Given the description of an element on the screen output the (x, y) to click on. 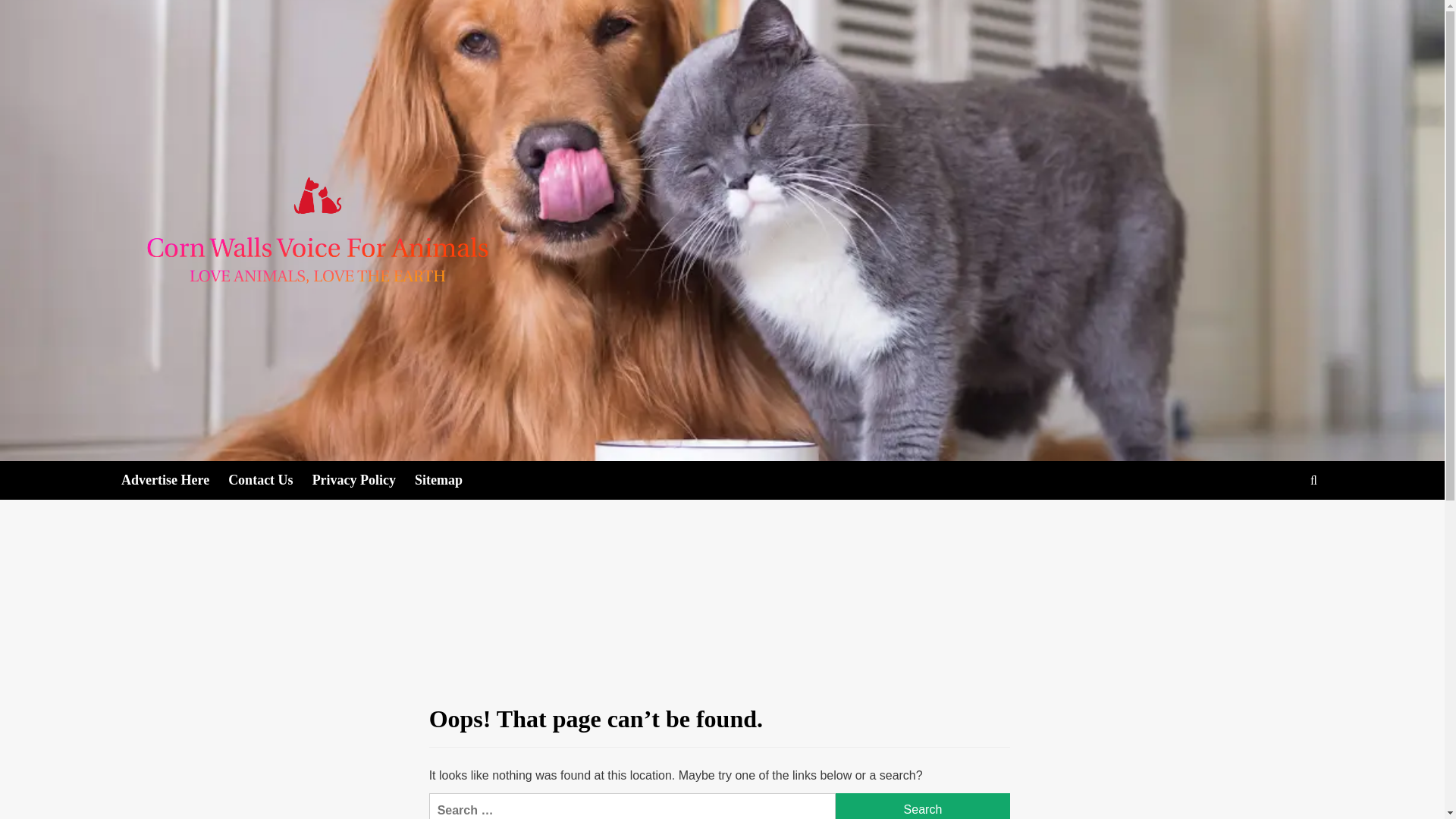
Search (922, 806)
Contact Us (270, 480)
Search (922, 806)
Search (922, 806)
Sitemap (447, 480)
Advertise Here (174, 480)
Search (1278, 527)
Privacy Policy (363, 480)
